Given the description of an element on the screen output the (x, y) to click on. 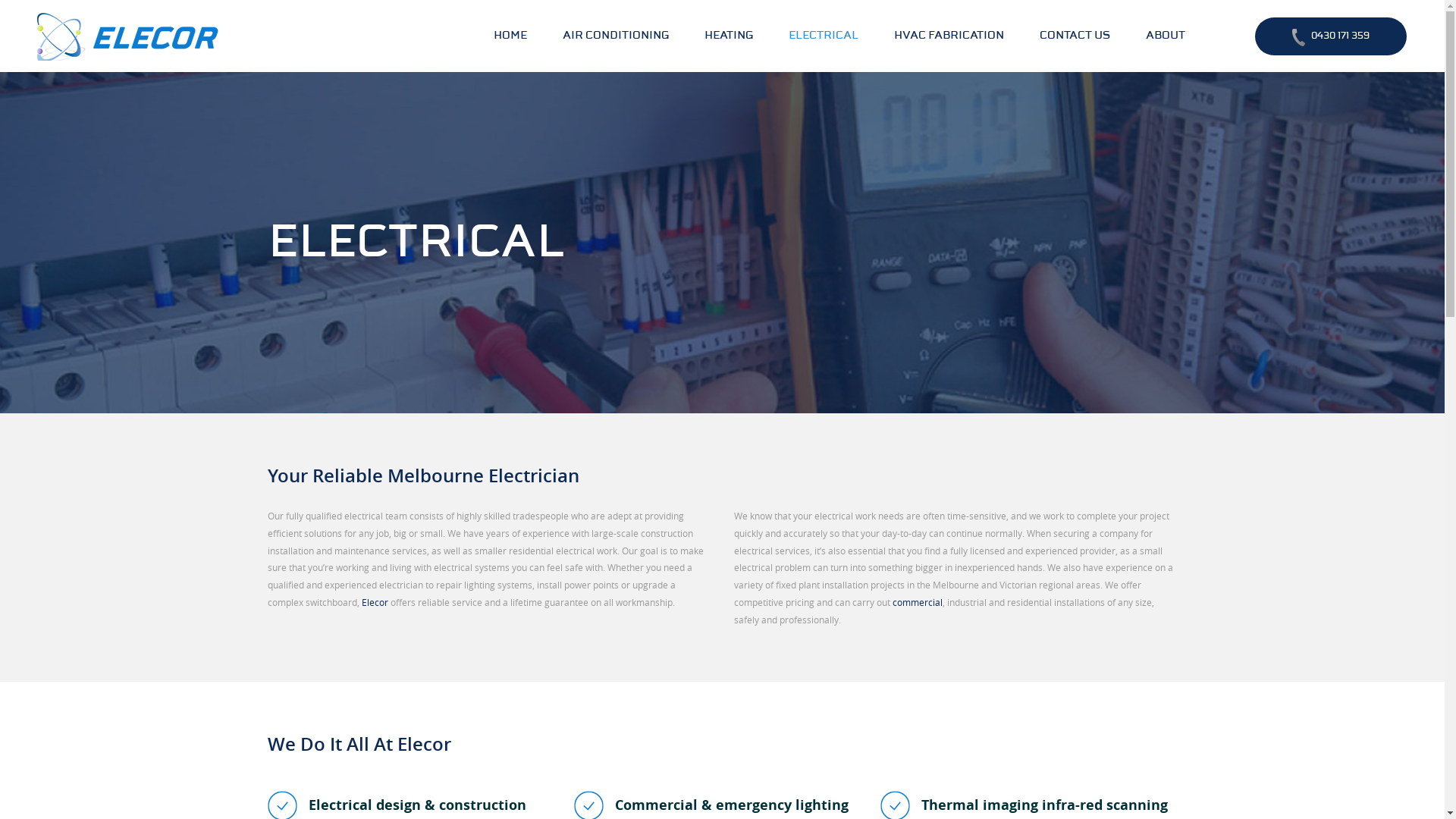
commercial Element type: text (916, 602)
ABOUT Element type: text (1165, 35)
Elecor Element type: text (373, 602)
HVAC FABRICATION Element type: text (948, 35)
Elecor | Commercial Air Conditioning Melbourne Element type: hover (128, 35)
HOME Element type: text (510, 35)
ELECTRICAL Element type: text (823, 35)
CONTACT US Element type: text (1074, 35)
AIR CONDITIONING Element type: text (615, 35)
0430 171 359 Element type: text (1330, 35)
HEATING Element type: text (728, 35)
